Given the description of an element on the screen output the (x, y) to click on. 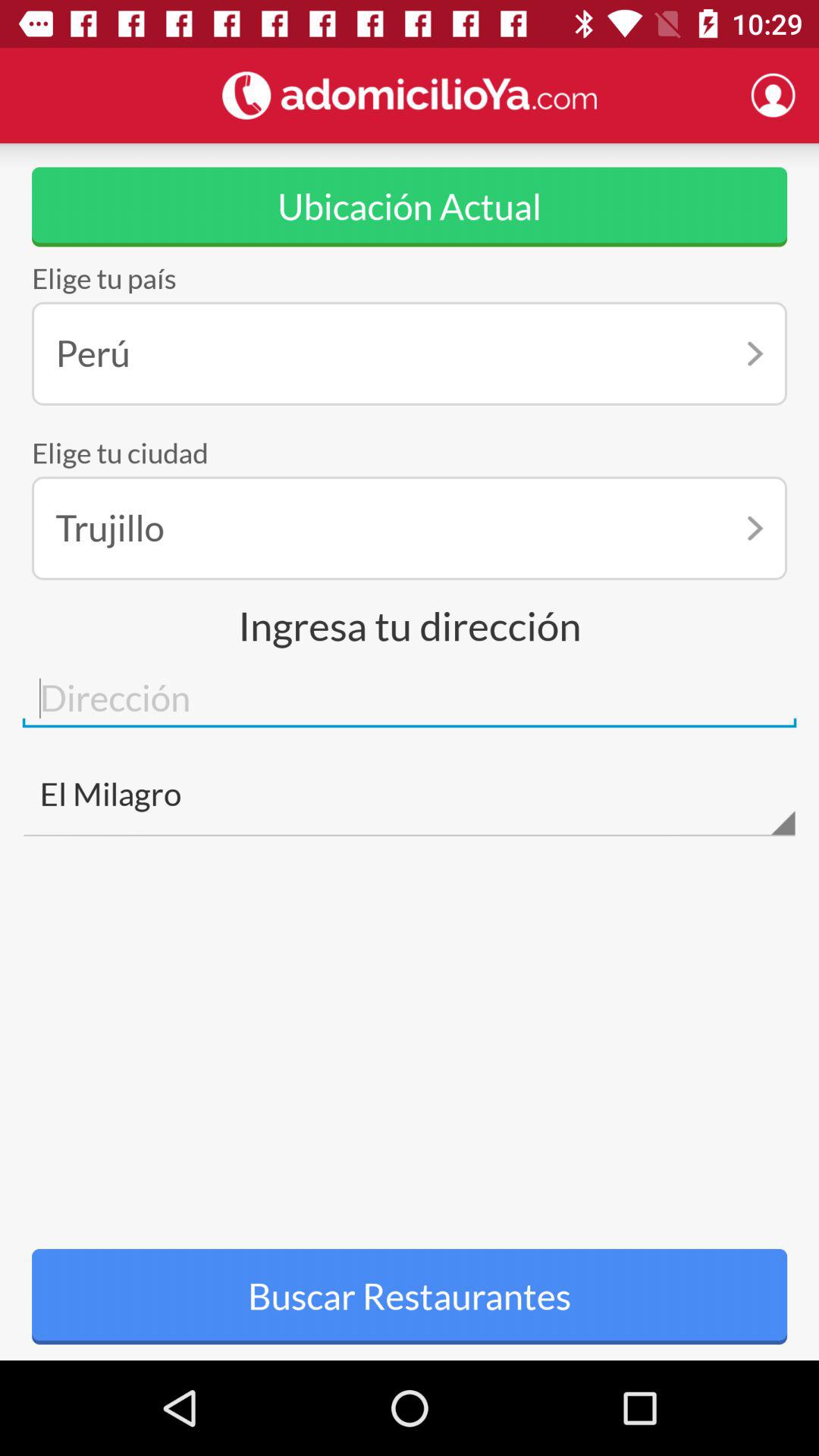
takes you to your profile (773, 95)
